Given the description of an element on the screen output the (x, y) to click on. 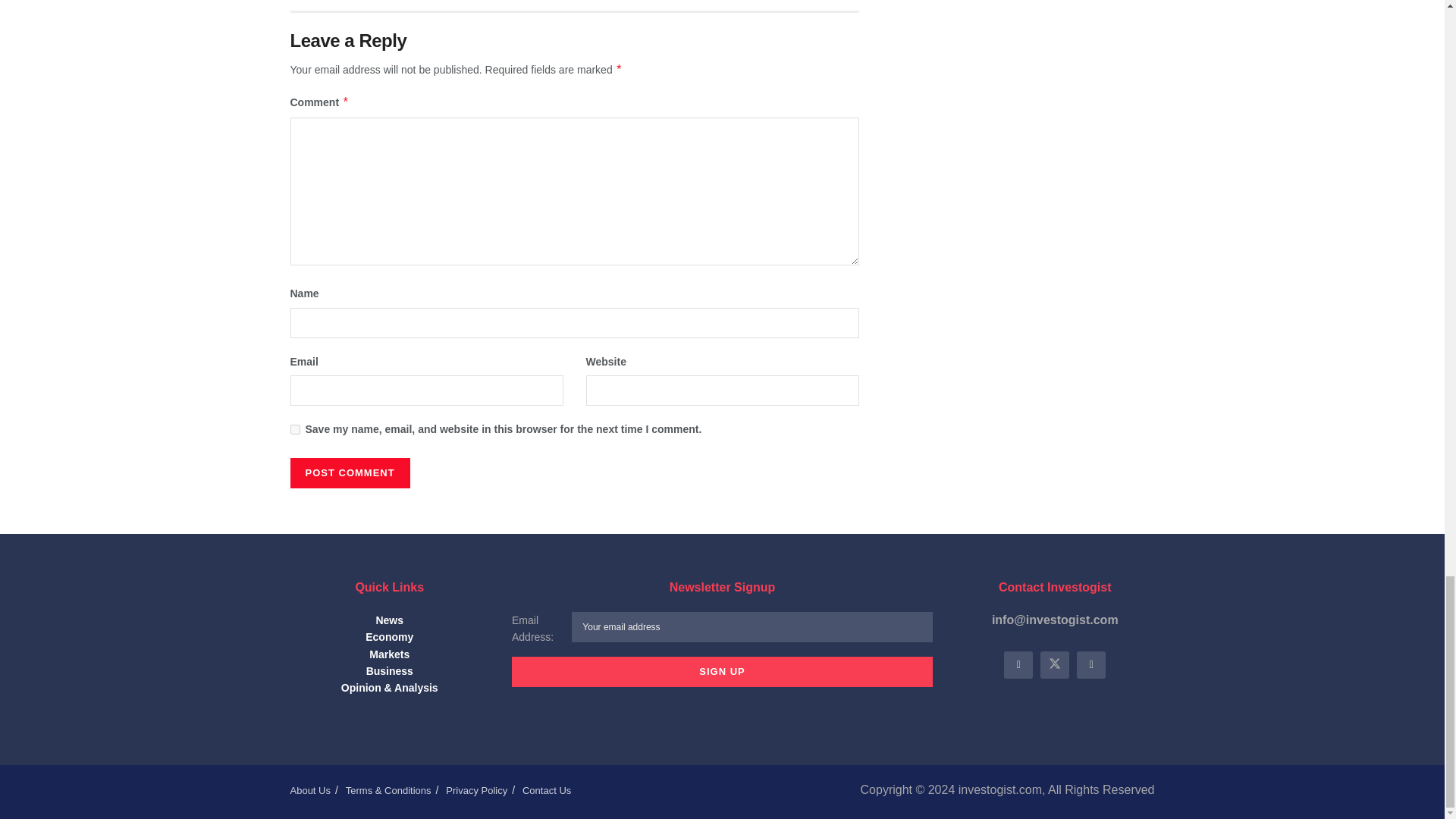
Sign up (722, 671)
Post Comment (349, 472)
yes (294, 429)
